Given the description of an element on the screen output the (x, y) to click on. 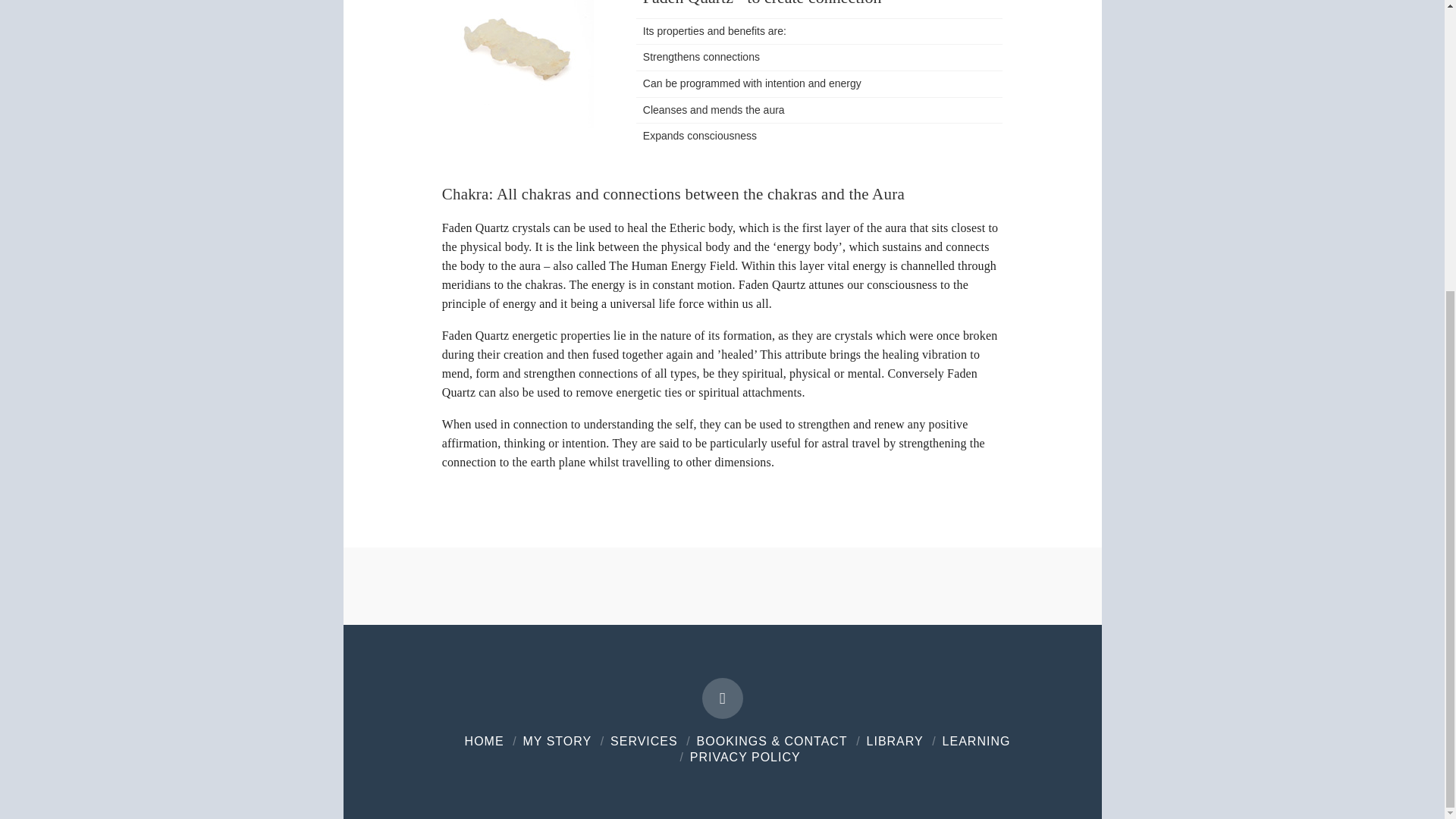
Instagram (721, 698)
